Given the description of an element on the screen output the (x, y) to click on. 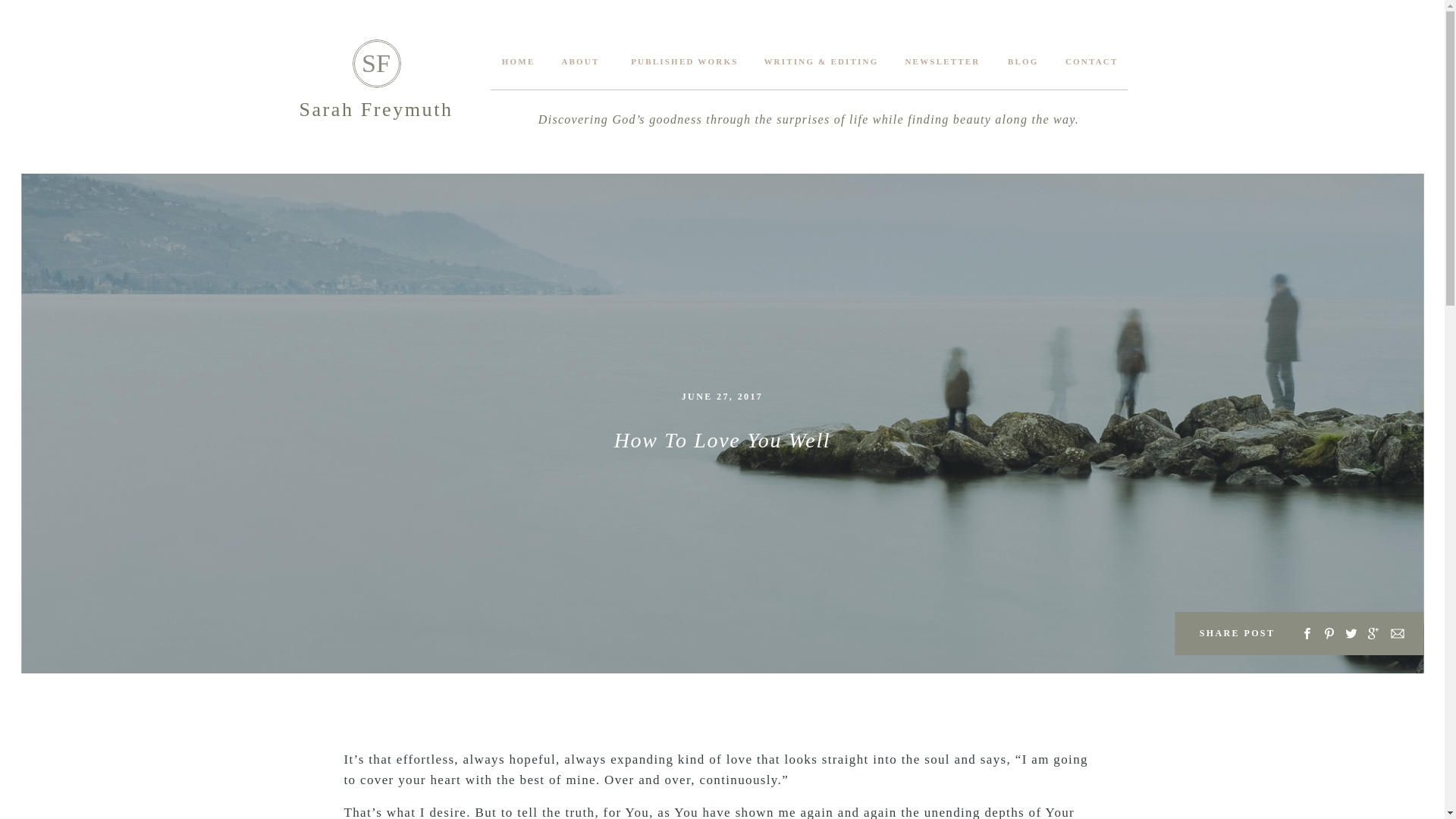
HOME (517, 60)
BLOG (1022, 61)
NEWSLETTER (941, 61)
SF (376, 63)
Sarah Freymuth (376, 109)
ABOUT (578, 61)
CONTACT (1090, 61)
PUBLISHED WORKS (681, 61)
